Given the description of an element on the screen output the (x, y) to click on. 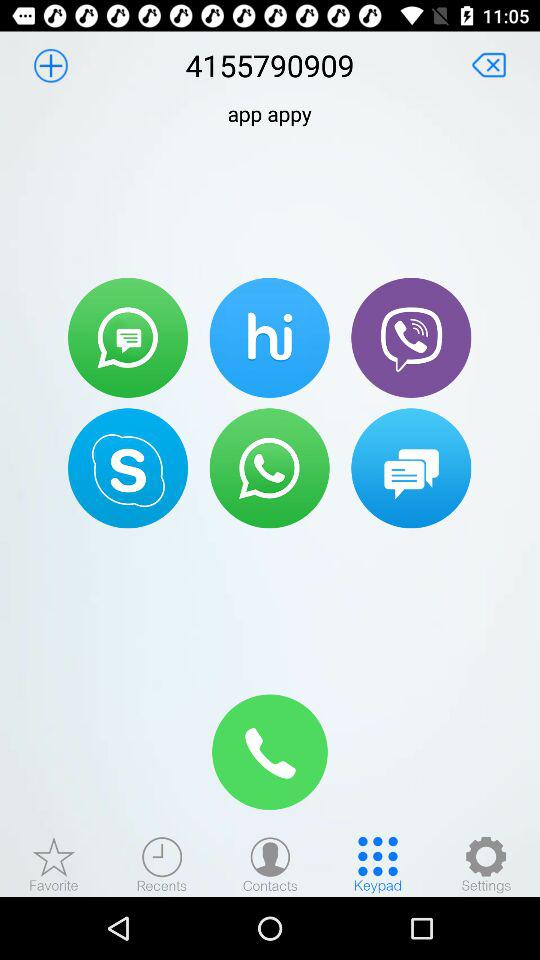
press to contact (411, 337)
